Given the description of an element on the screen output the (x, y) to click on. 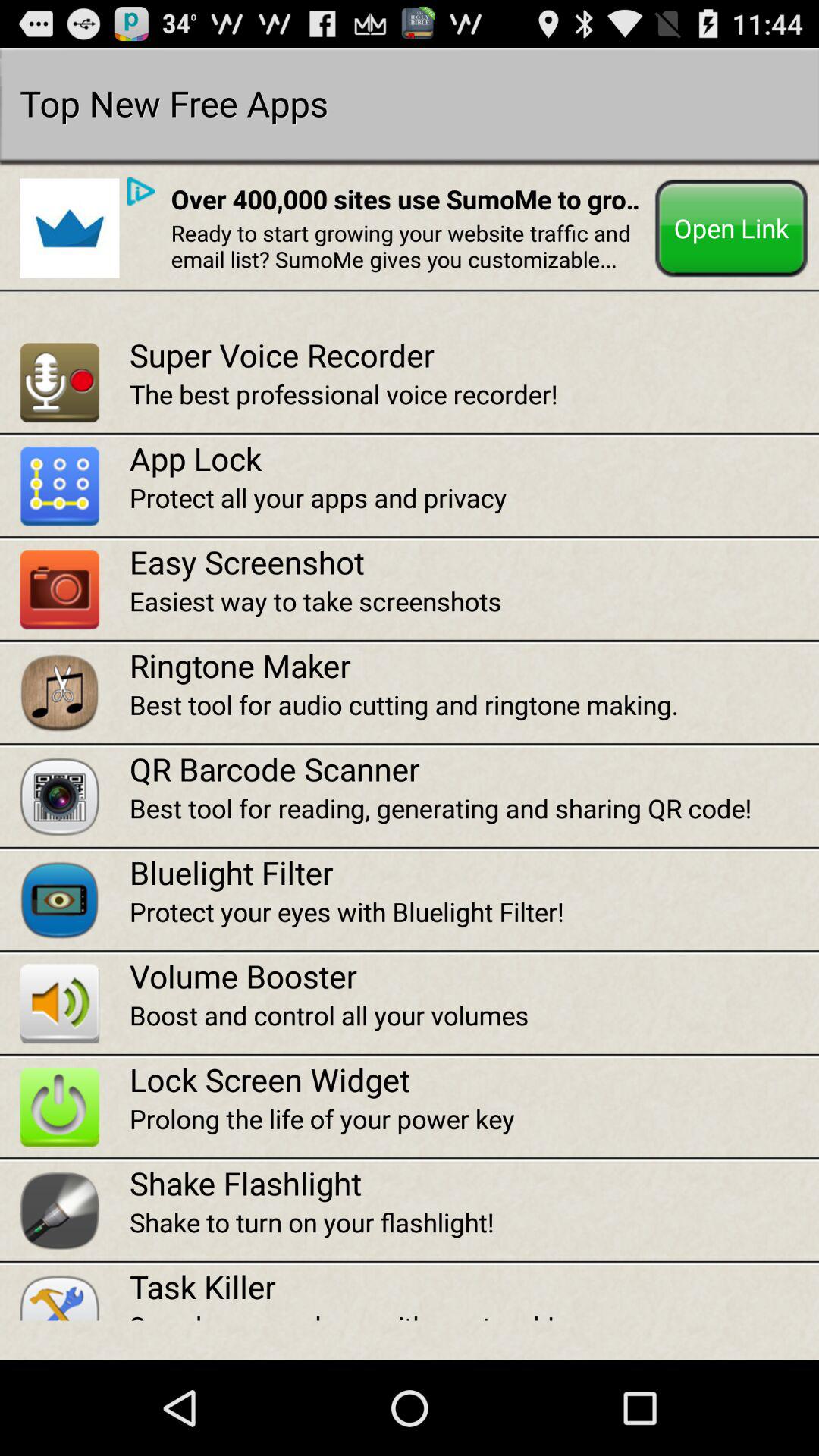
open the button at the top right corner (731, 228)
